Given the description of an element on the screen output the (x, y) to click on. 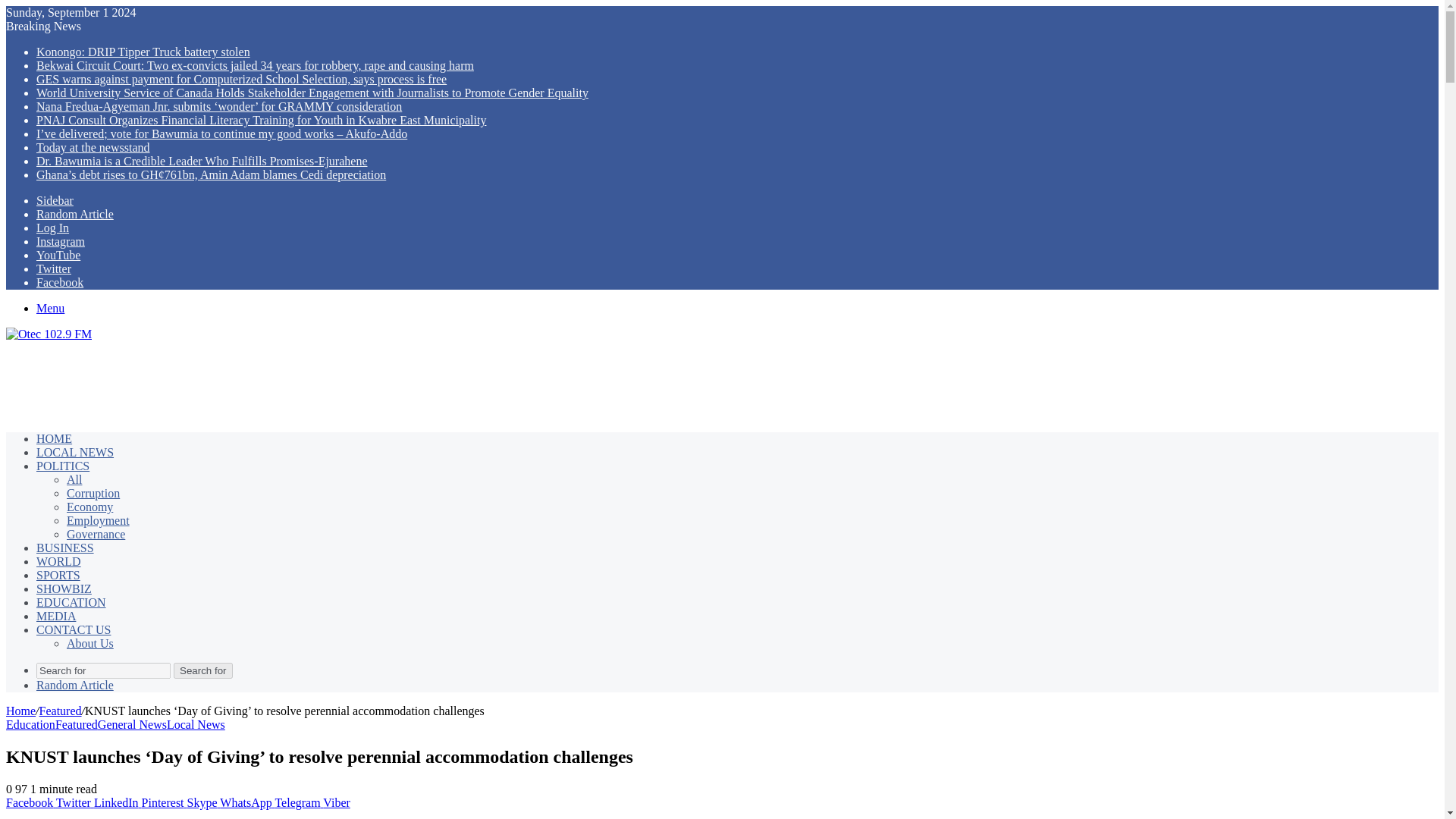
WhatsApp (247, 802)
Corruption (92, 492)
SHOWBIZ (63, 588)
POLITICS (62, 465)
Telegram (299, 802)
Facebook (30, 802)
Konongo: DRIP Tipper Truck battery stolen (143, 51)
Log In (52, 227)
Pinterest (164, 802)
Instagram (60, 241)
